Given the description of an element on the screen output the (x, y) to click on. 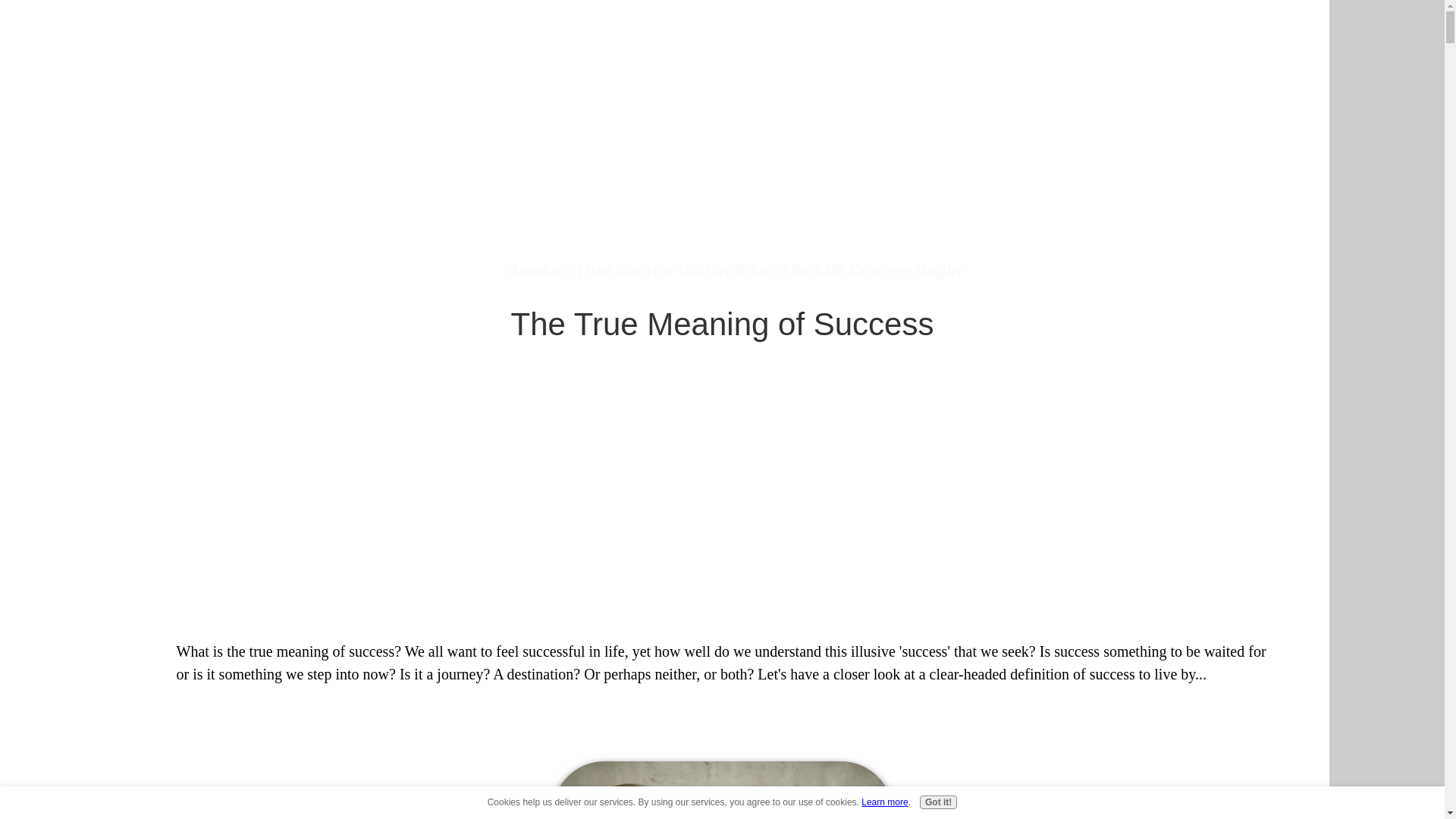
PATHWAYS TO CHANGE YOUR LIFE (539, 27)
SUBCONSCIOUS SKILLS (989, 27)
HOME (302, 27)
ONE DAY AT A TIME (719, 27)
